Given the description of an element on the screen output the (x, y) to click on. 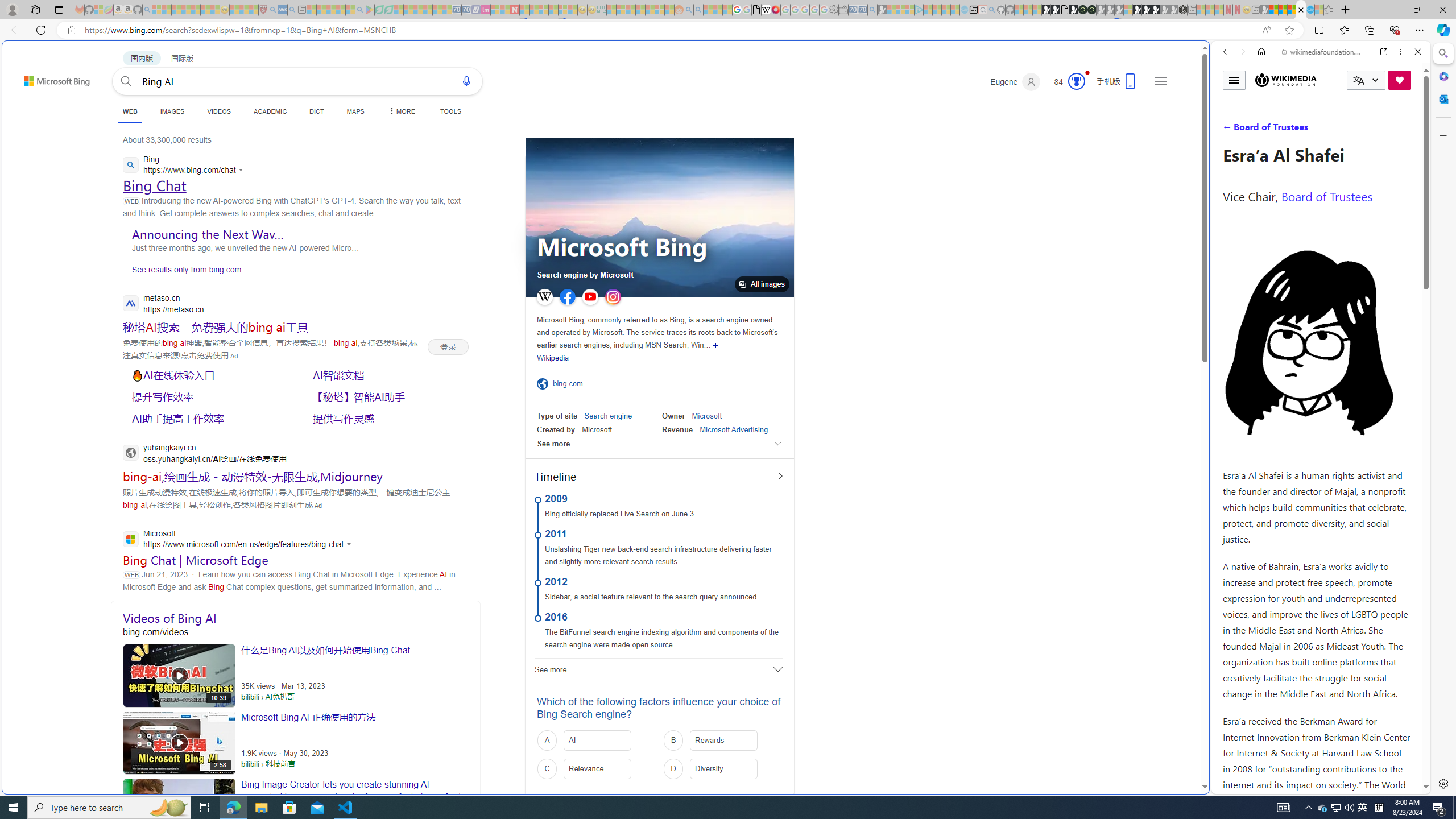
14 Common Myths Debunked By Scientific Facts - Sleeping (533, 9)
Official Site (545, 383)
Bing AI - Search (1300, 9)
Bing officially replaced Live Search on June 3 (619, 513)
Search engine (607, 415)
